Given the description of an element on the screen output the (x, y) to click on. 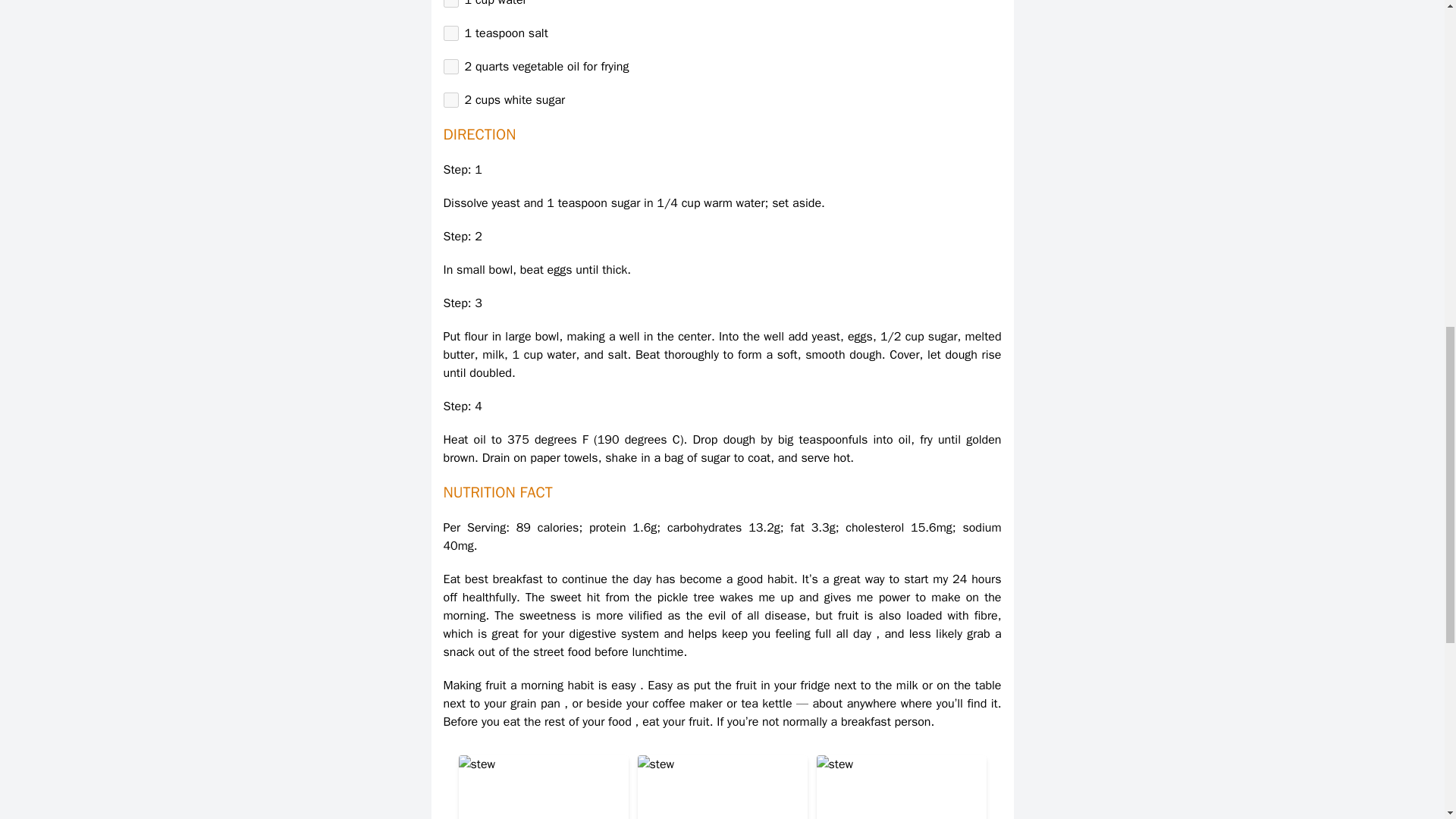
on (450, 99)
on (450, 66)
on (450, 32)
on (450, 3)
